Given the description of an element on the screen output the (x, y) to click on. 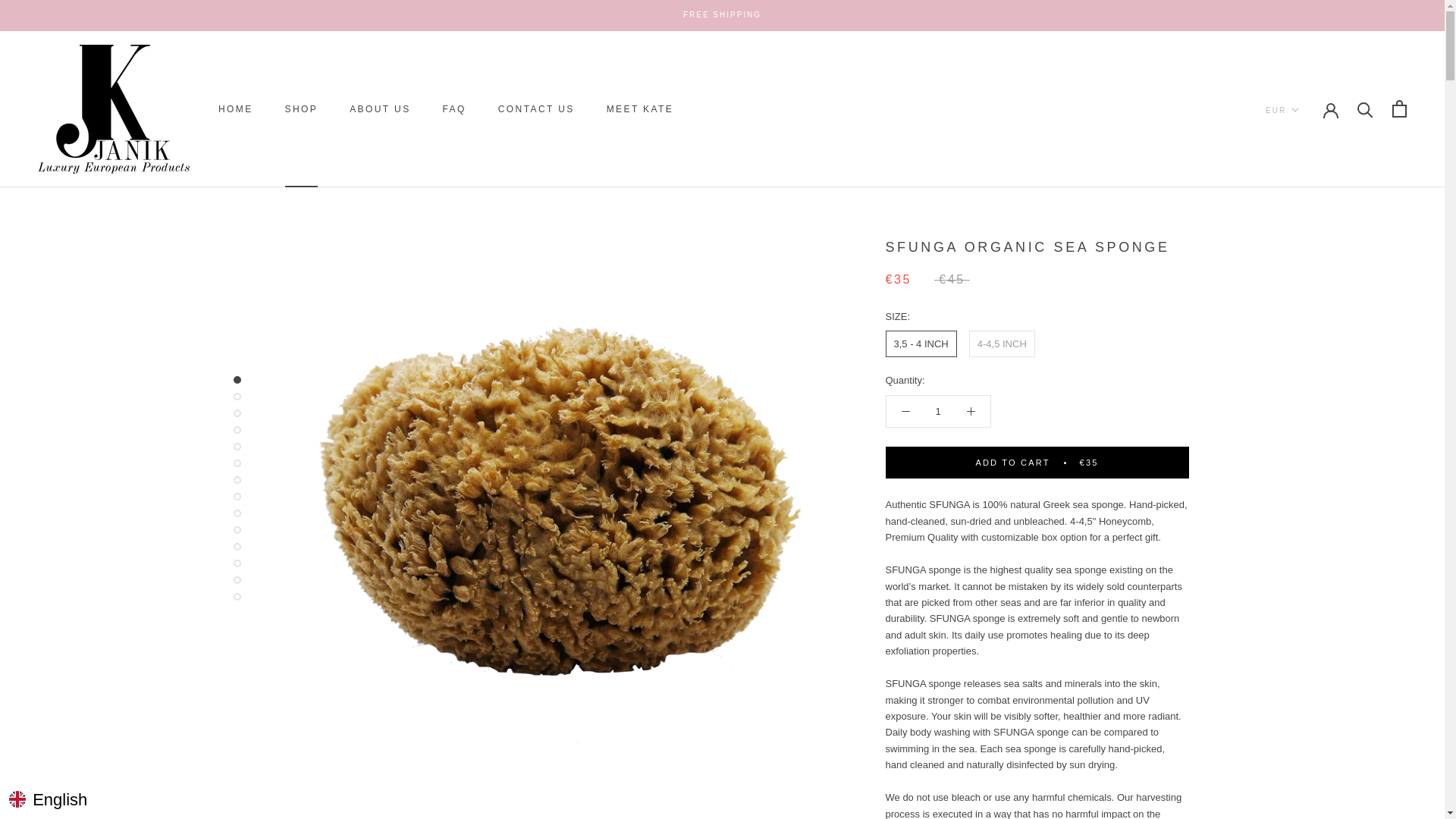
FREE SHIPPING (640, 109)
1 (379, 109)
Currency selector (721, 14)
